Given the description of an element on the screen output the (x, y) to click on. 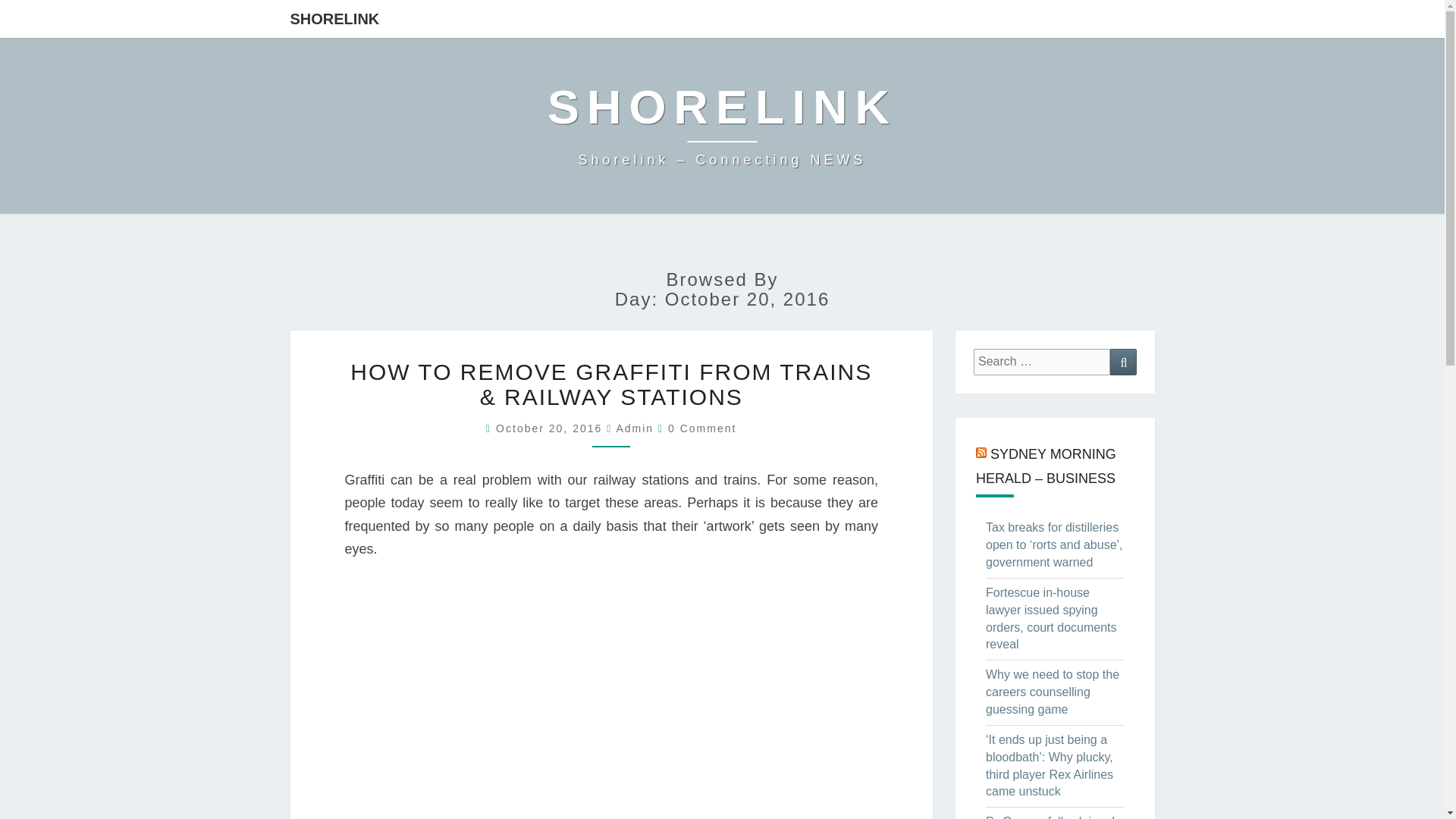
Search (1123, 361)
Why we need to stop the careers counselling guessing game (1052, 691)
View all posts by admin (634, 428)
October 20, 2016 (551, 428)
Admin (634, 428)
Shorelink (721, 125)
SHORELINK (335, 18)
0 Comment (702, 428)
Search for: (1041, 361)
11:22 pm (551, 428)
